Given the description of an element on the screen output the (x, y) to click on. 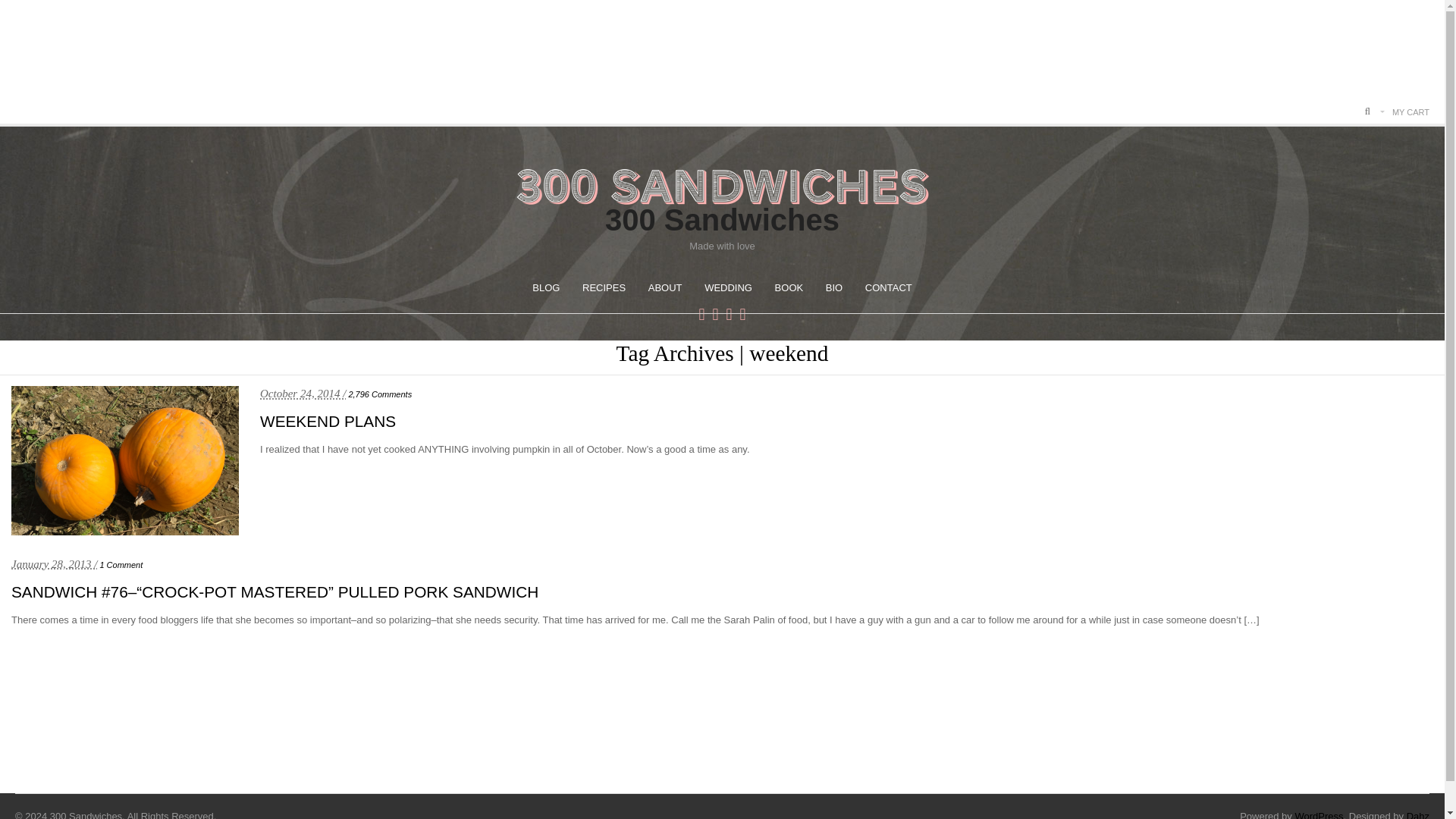
Advertisement (721, 54)
WordPress (1318, 814)
CONTACT (888, 287)
BOOK (789, 287)
2,796 Comments (379, 393)
RECIPES (603, 287)
WEDDING (727, 287)
1 Comment (120, 564)
Weekend Plans (328, 420)
WEEKEND PLANS (328, 420)
Made with love (721, 196)
Advertisement (721, 731)
300 Sandwiches (722, 219)
WordPress (1318, 814)
Dahz (1417, 814)
